Given the description of an element on the screen output the (x, y) to click on. 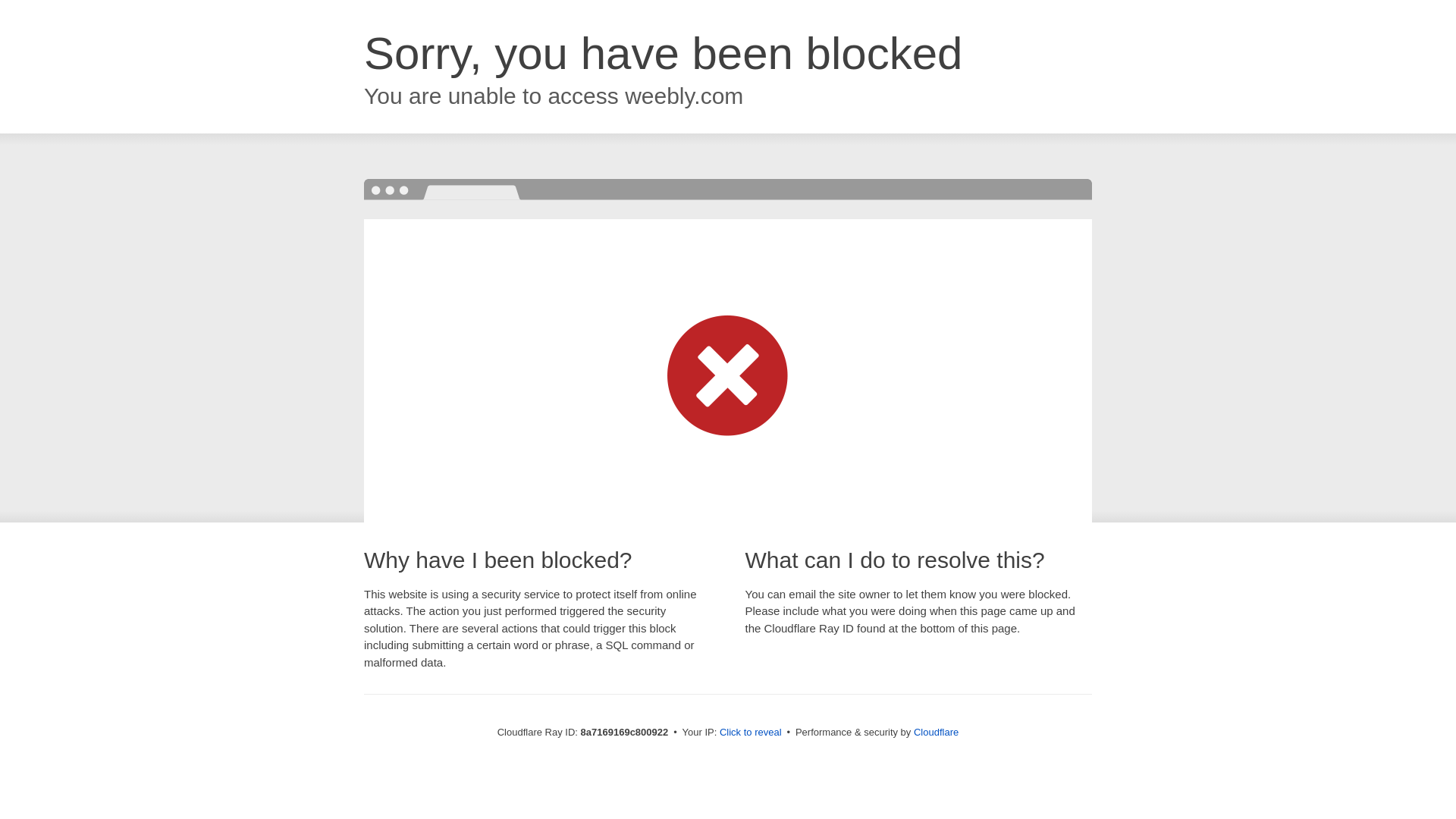
Click to reveal (750, 732)
Cloudflare (936, 731)
